Given the description of an element on the screen output the (x, y) to click on. 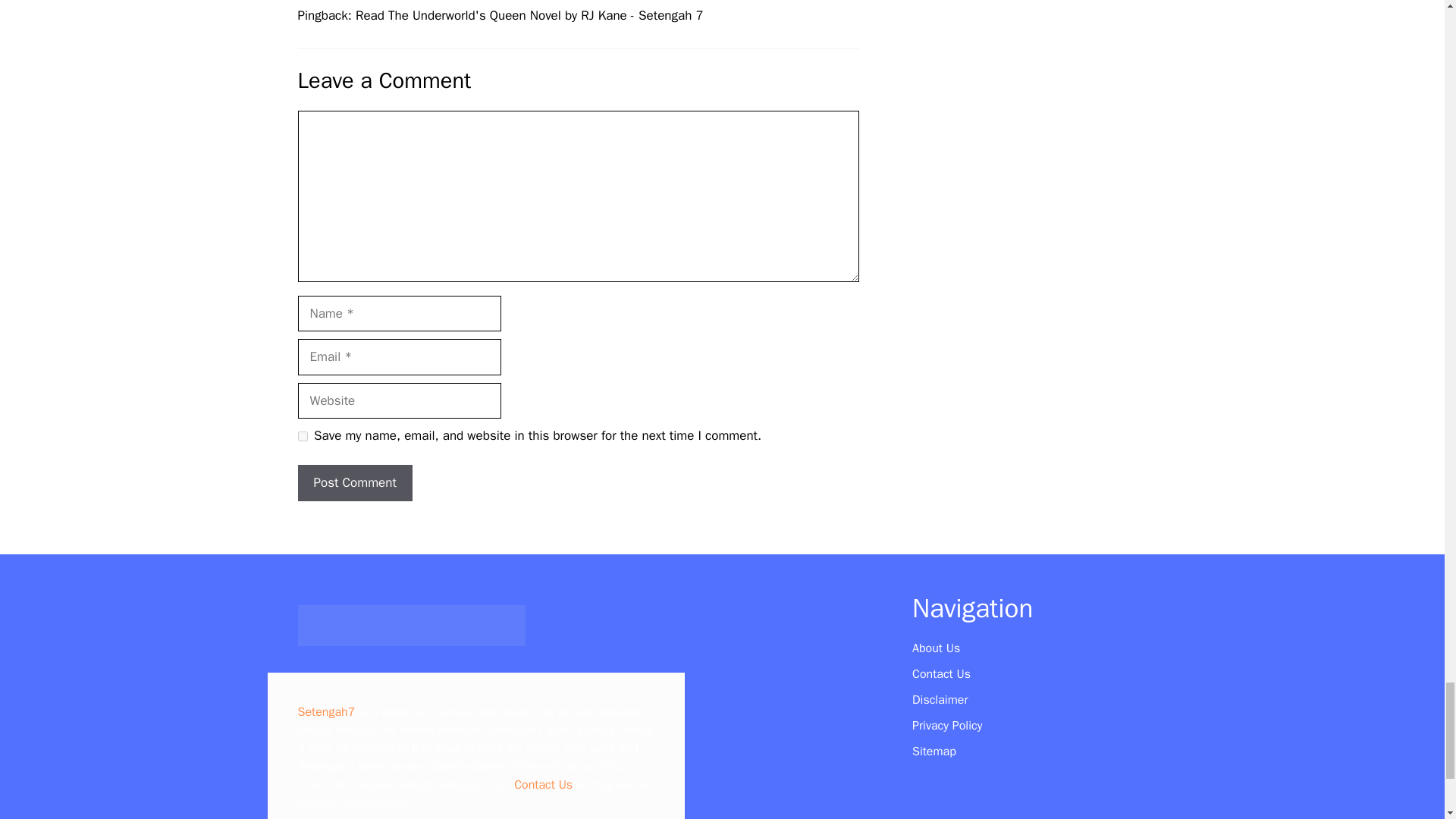
Logo-Website-setengah7.com-1 (410, 625)
Post Comment (354, 483)
yes (302, 436)
